Given the description of an element on the screen output the (x, y) to click on. 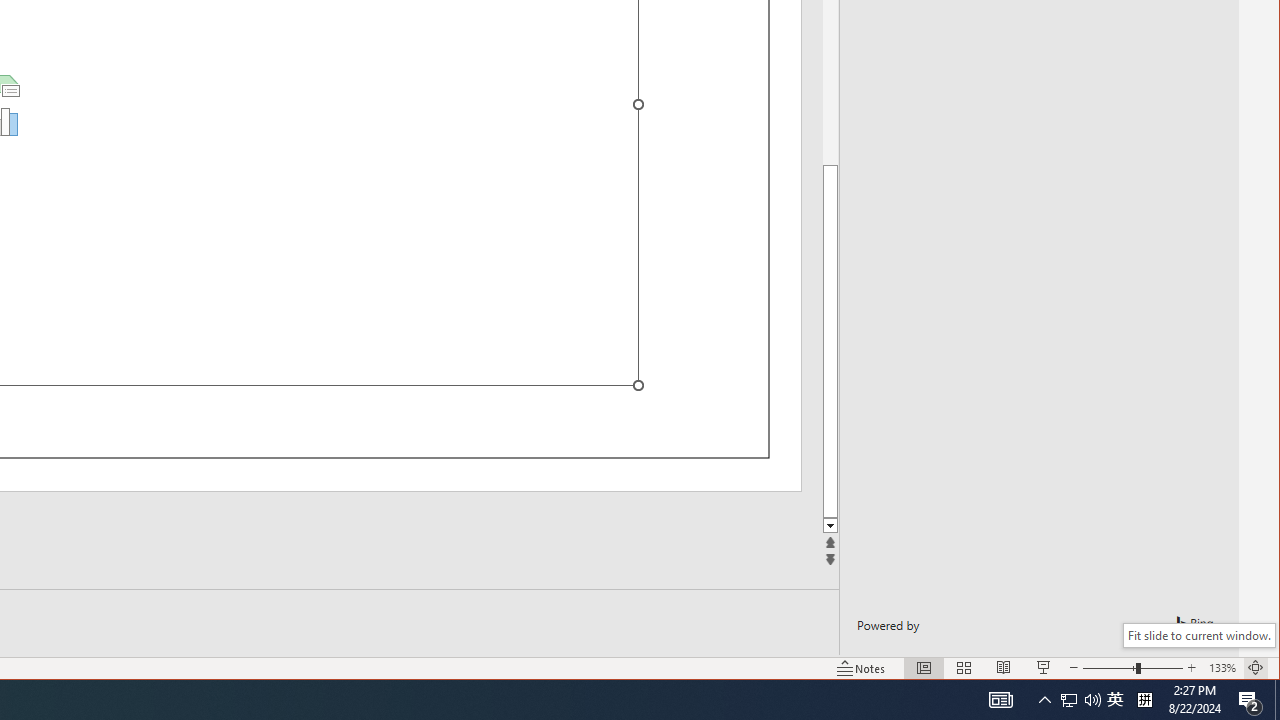
Fit slide to current window. (1199, 635)
